Given the description of an element on the screen output the (x, y) to click on. 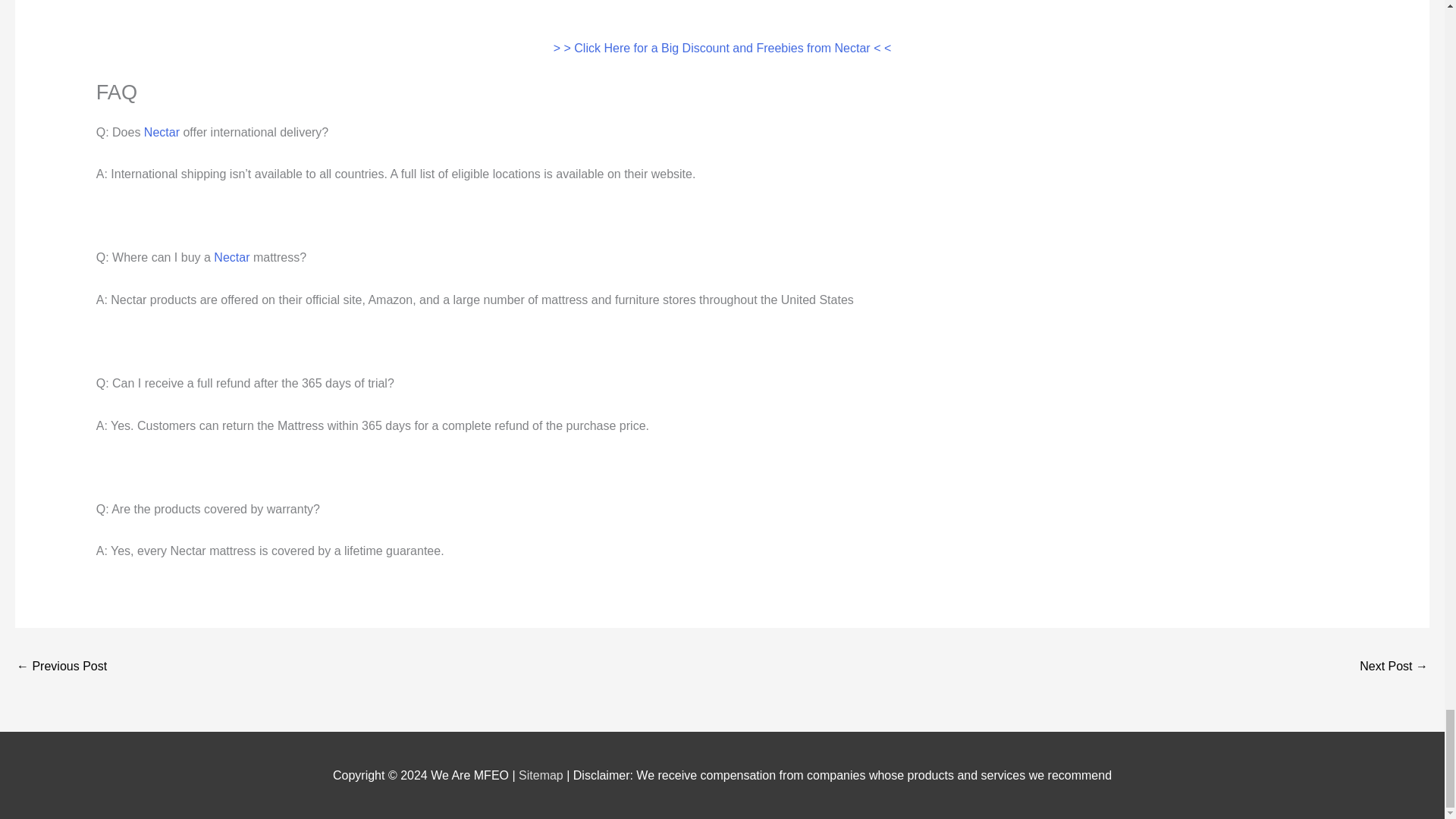
Sitemap (542, 775)
Nectar (161, 132)
Nectar Mattress John Lewis (1393, 667)
Nectar (231, 256)
Nectar Bed Frame Warranty (61, 667)
